Given the description of an element on the screen output the (x, y) to click on. 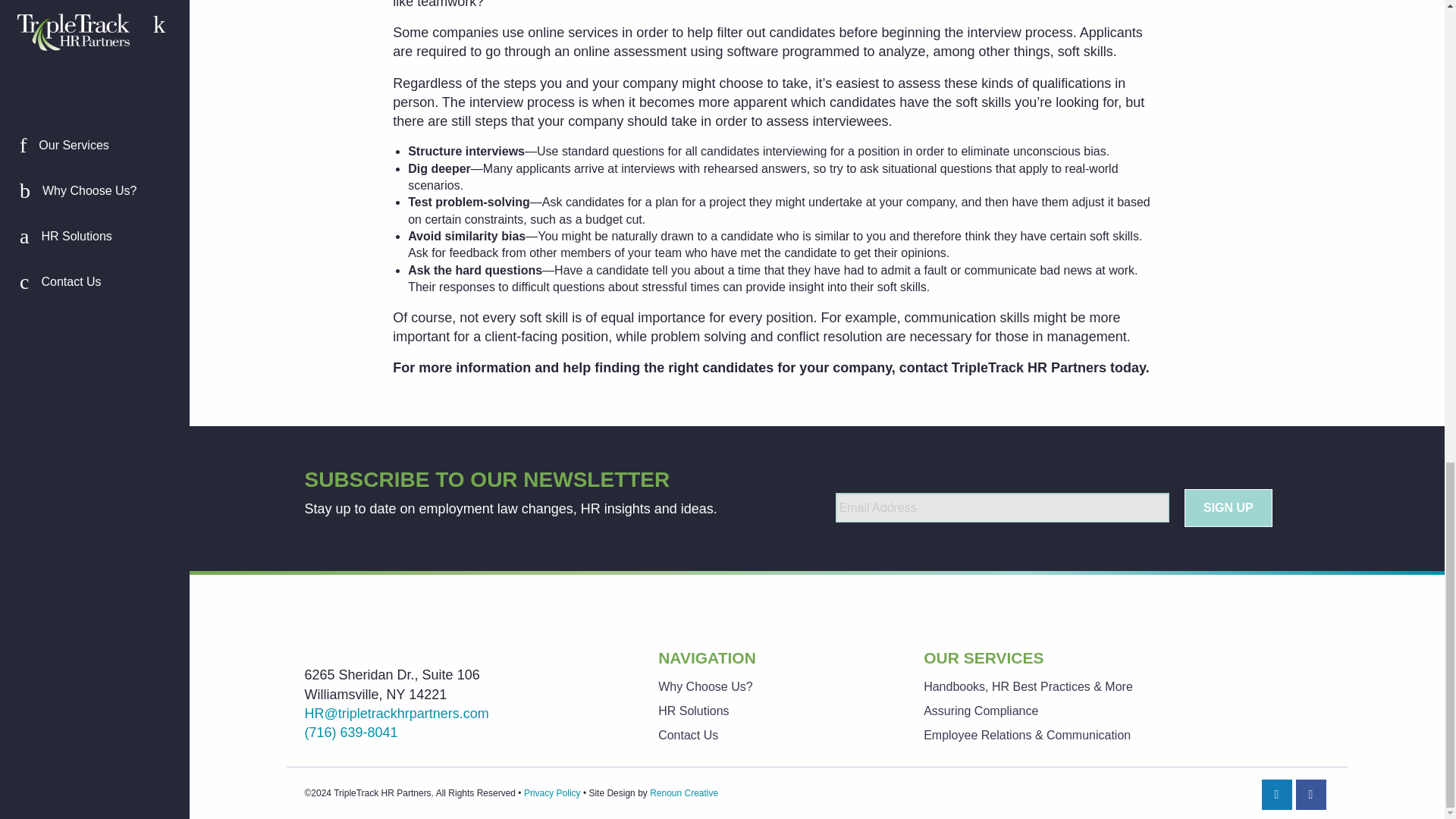
Sign Up (1228, 507)
Why Choose Us? (772, 686)
Contact Us (772, 735)
Sign Up (1228, 507)
Assuring Compliance (1126, 711)
Renoun Creative (683, 792)
Privacy Policy (552, 792)
HR Solutions (772, 711)
